Given the description of an element on the screen output the (x, y) to click on. 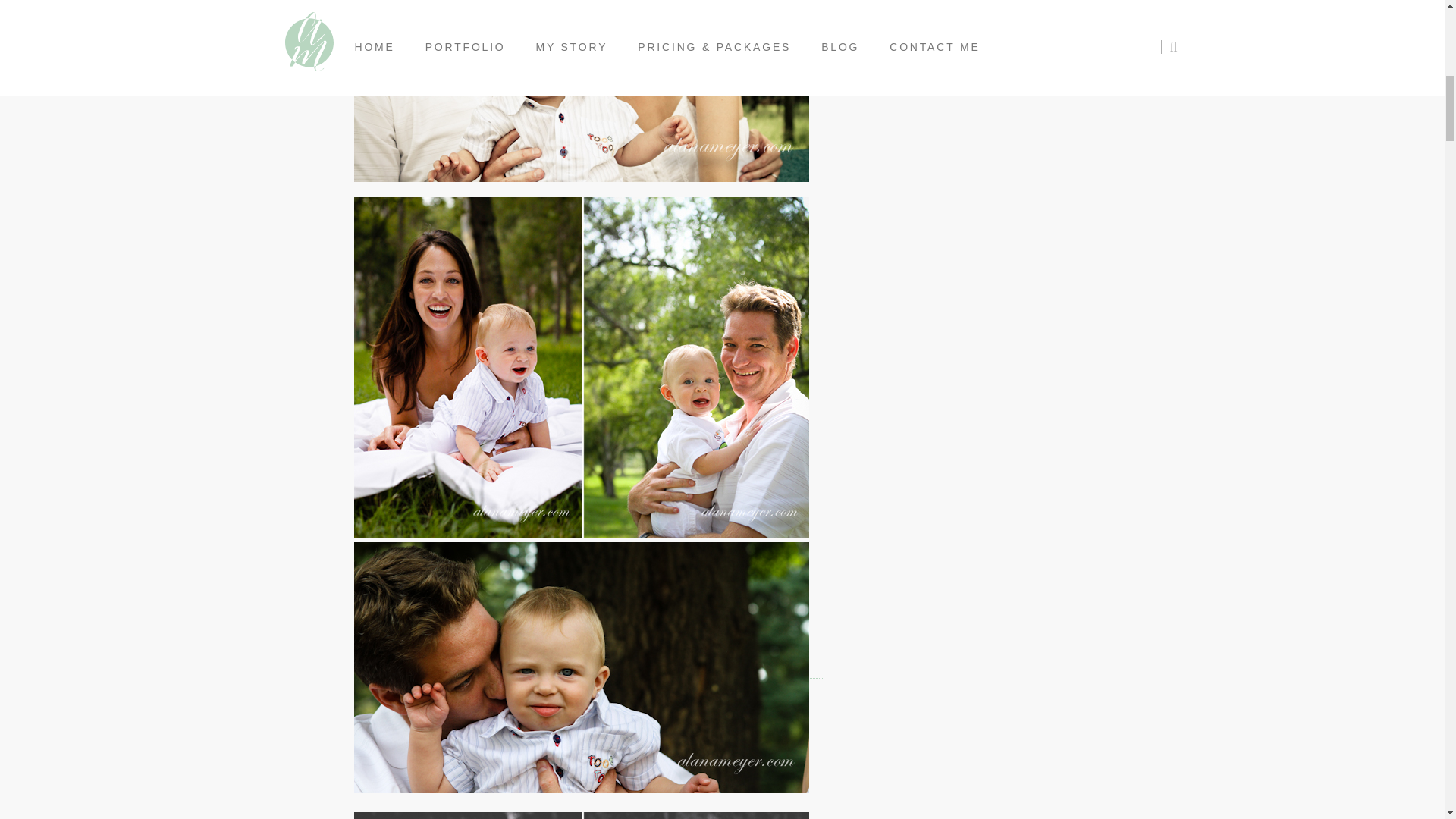
Baby photographer-2 (581, 667)
Baby photographer-1 (581, 90)
baby shoot (581, 815)
